Given the description of an element on the screen output the (x, y) to click on. 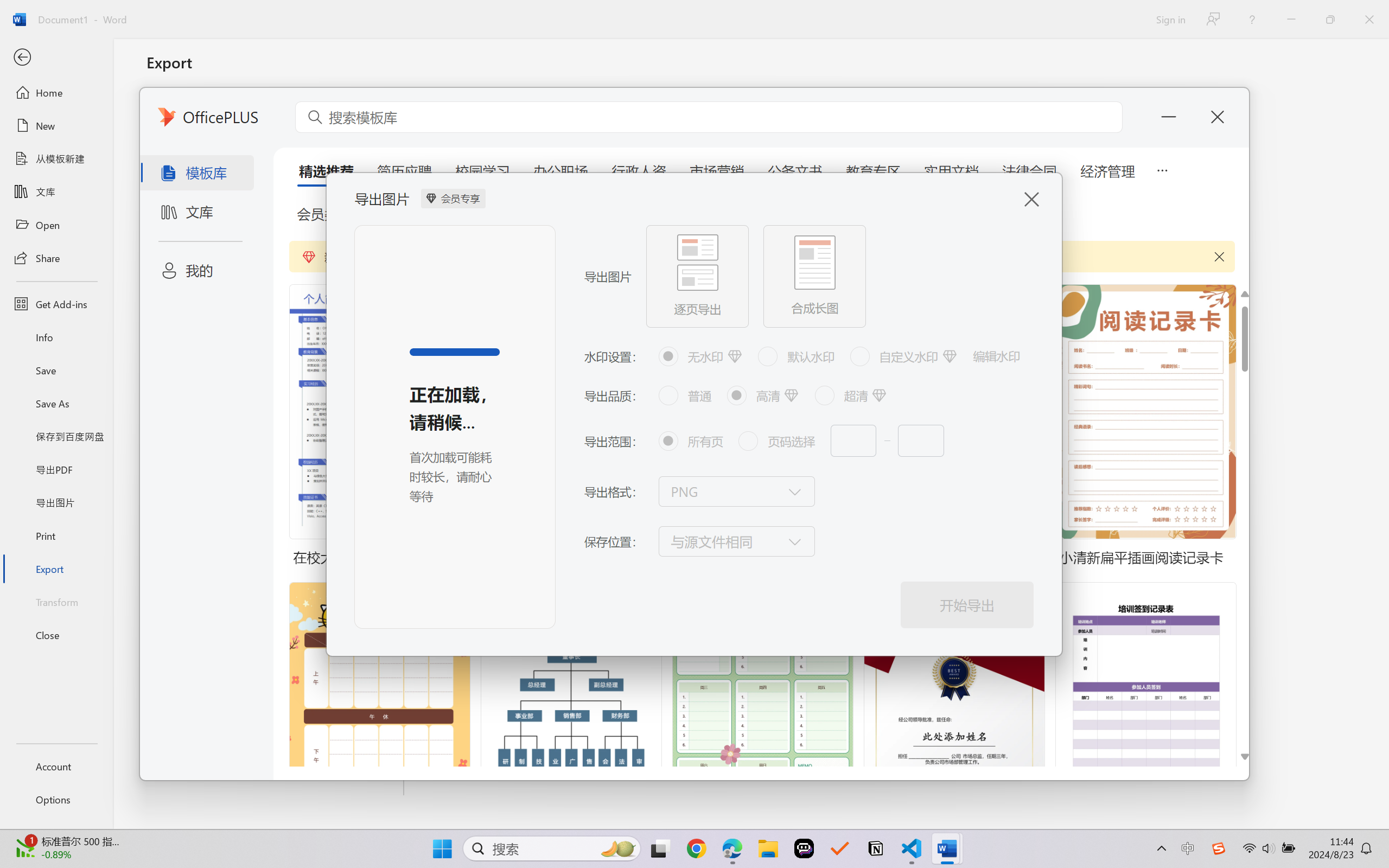
Export (56, 568)
